Given the description of an element on the screen output the (x, y) to click on. 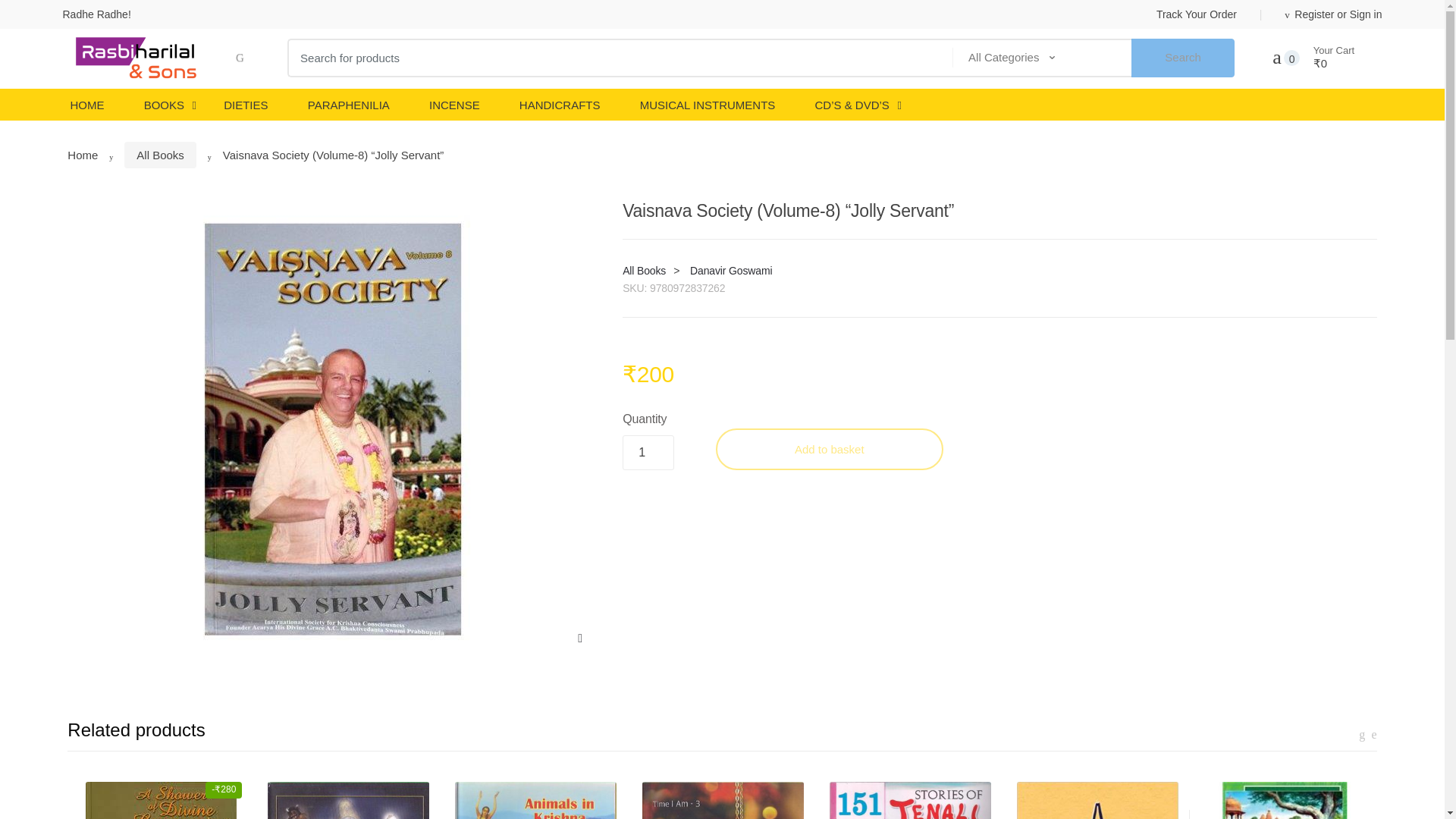
Radhe Radhe! (96, 14)
Track Your Order (1196, 14)
Radhe Radhe! (96, 14)
Register or Sign in (1308, 14)
Register or Sign in (1308, 14)
Track Your Order (1196, 14)
1 (648, 452)
